Given the description of an element on the screen output the (x, y) to click on. 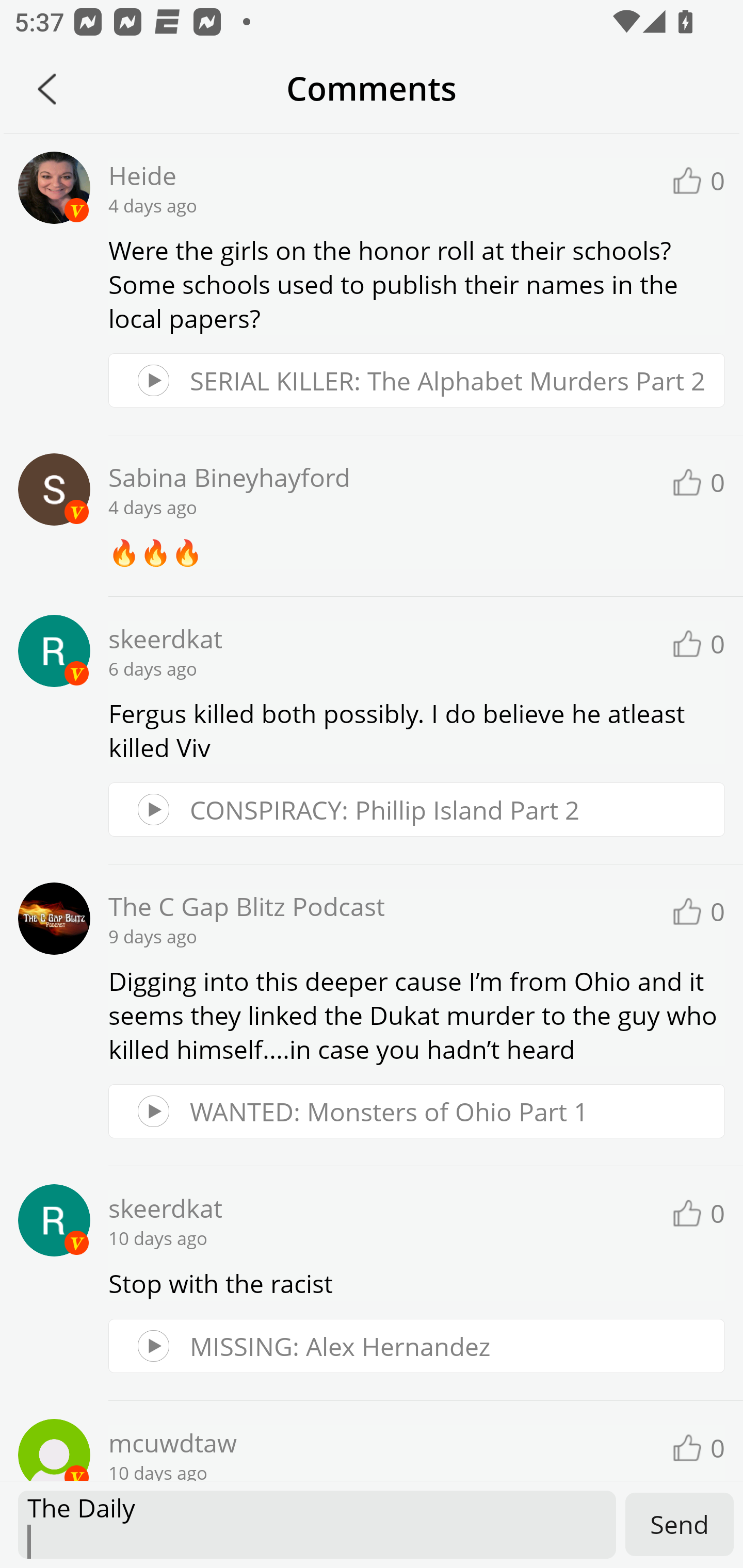
Back (46, 88)
The Daily
 (316, 1524)
Send (679, 1523)
